Given the description of an element on the screen output the (x, y) to click on. 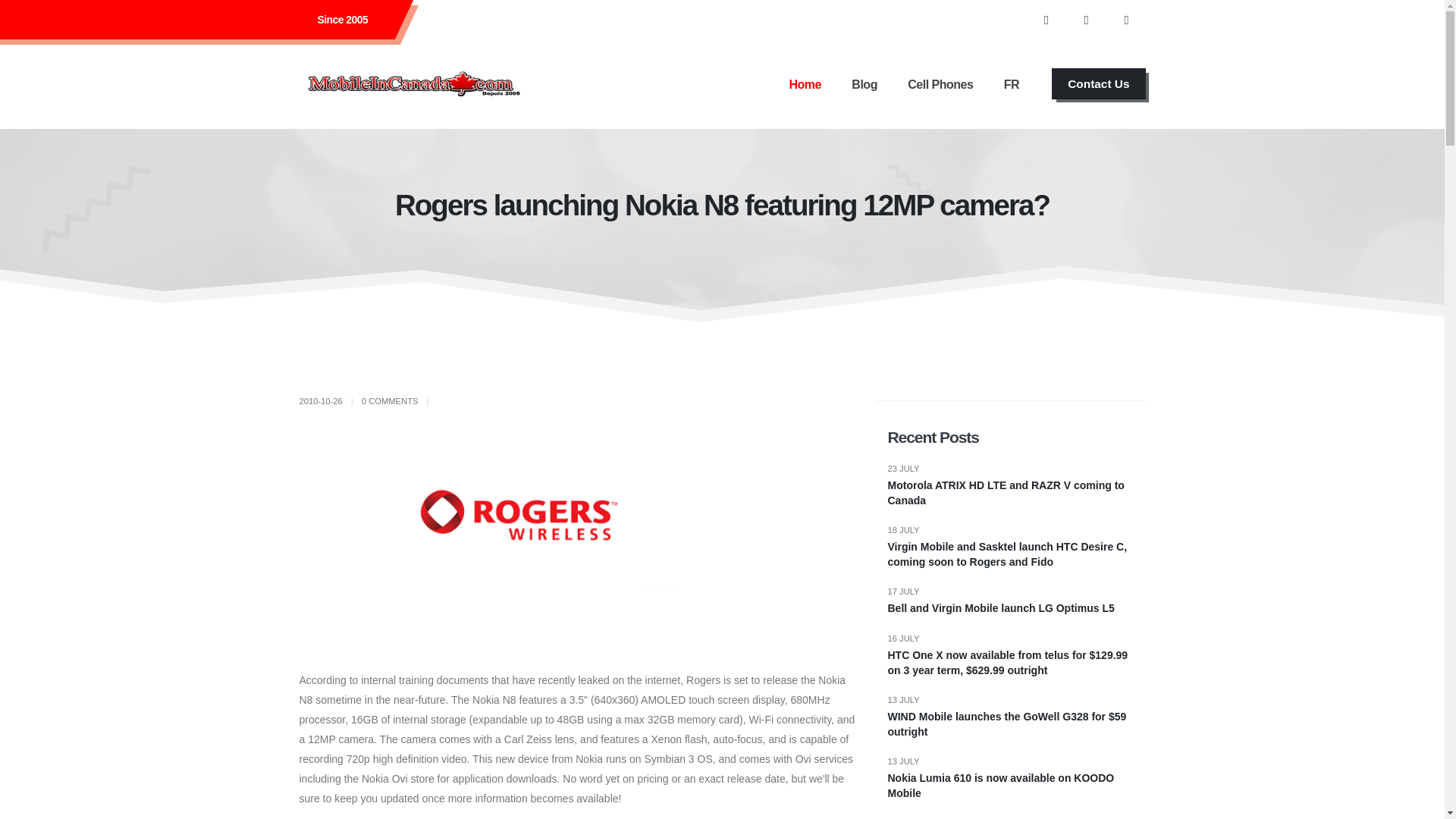
Twitter (1086, 19)
Contact Us (1097, 83)
Youtube (1045, 19)
Since 2005 (342, 19)
Facebook (1126, 19)
Rogers launching Nokia N8 featuring 12MP camera? (578, 536)
Cell Phones (940, 84)
